Given the description of an element on the screen output the (x, y) to click on. 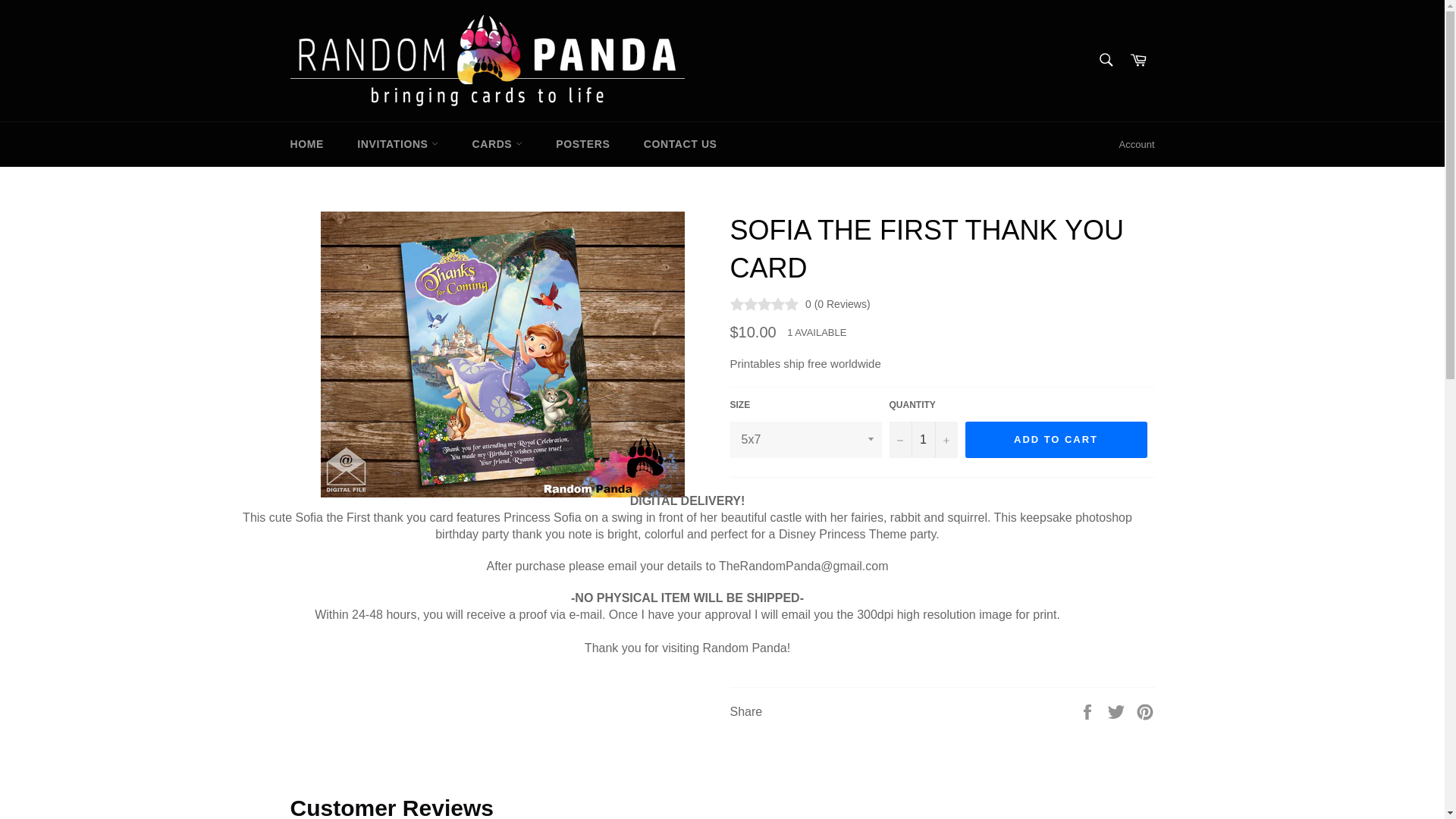
Cart (1138, 60)
Pin on Pinterest (1144, 710)
Search (1104, 60)
HOME (306, 144)
INVITATIONS (397, 144)
Share on Facebook (1088, 710)
Tweet on Twitter (1117, 710)
1 (922, 439)
CARDS (497, 144)
